Given the description of an element on the screen output the (x, y) to click on. 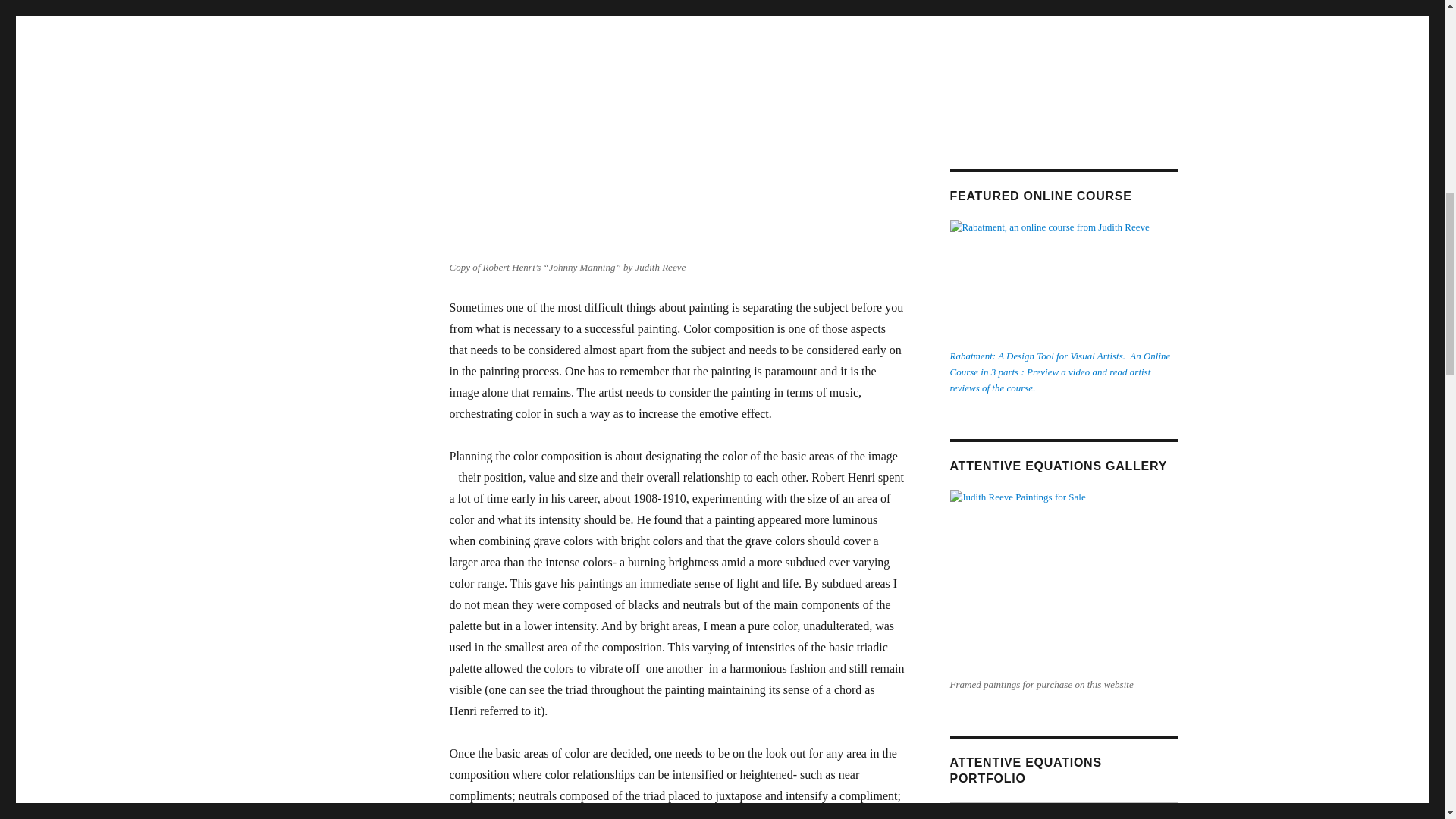
Attentive Equations Gallery (1062, 580)
colored edges (481, 814)
Featured Online Course (1062, 281)
NEW OFFERING: Fall and Winter Classes (1062, 63)
johnnie manning (630, 127)
Attentive Equations Portfolio (1062, 810)
